Given the description of an element on the screen output the (x, y) to click on. 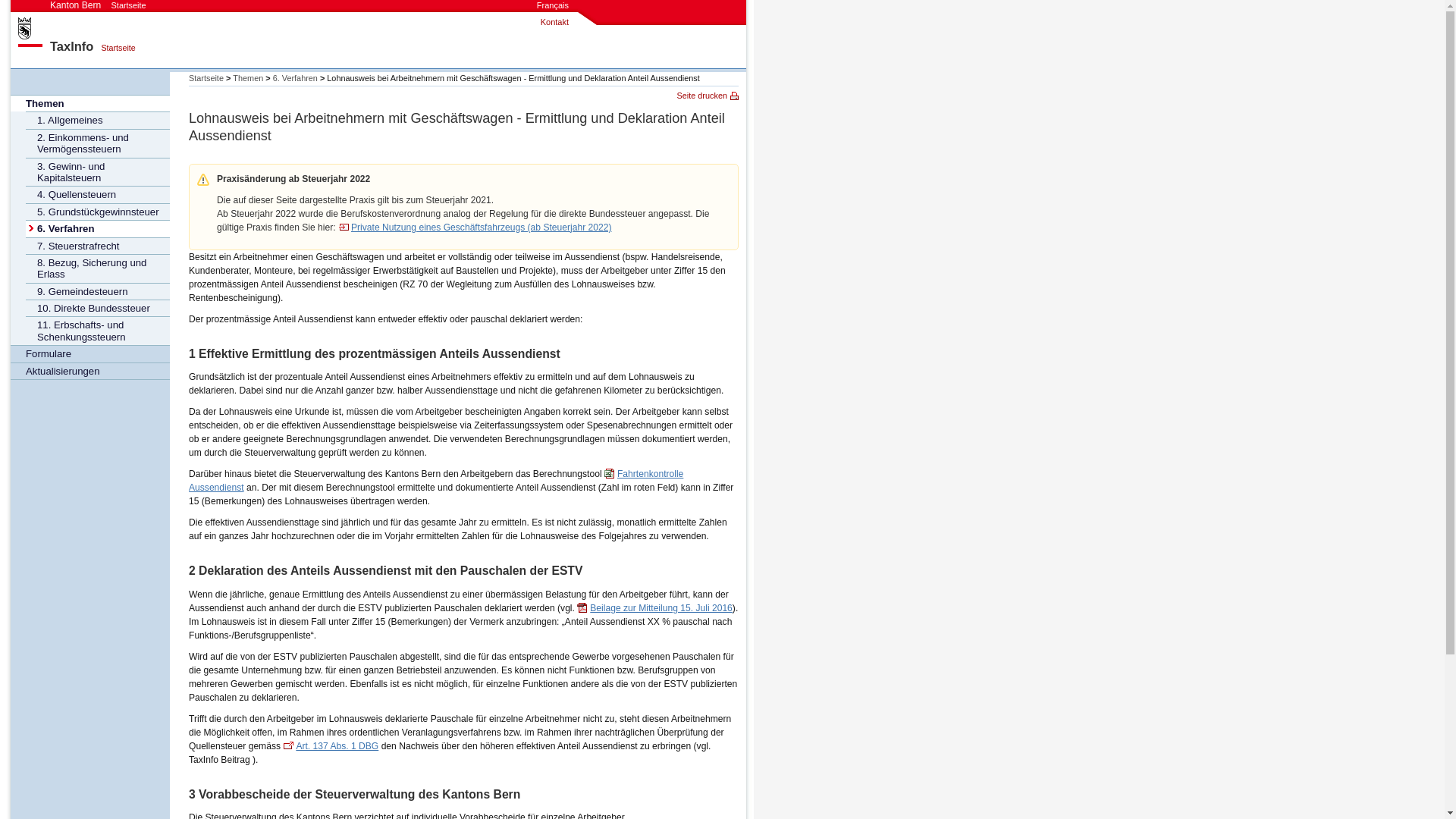
Themen Element type: text (89, 102)
Kontakt Element type: text (554, 21)
TaxInfo Element type: text (71, 46)
Formulare Element type: text (89, 353)
Fahrtenkontrolle Aussendienst Element type: text (435, 480)
4. Quellensteuern Element type: text (97, 193)
9. Gemeindesteuern Element type: text (97, 290)
10. Direkte Bundessteuer Element type: text (97, 307)
Seite drucken Element type: text (707, 95)
Startseite Element type: text (113, 47)
6. Verfahren Element type: text (295, 77)
Beilage zur Mitteilung 15. Juli 2016 Element type: text (654, 607)
Themen Element type: text (247, 77)
8. Bezug, Sicherung und Erlass Element type: text (97, 268)
Art. 137 Abs. 1 DBG Element type: text (330, 745)
3. Gewinn- und Kapitalsteuern Element type: text (97, 171)
Aktualisierungen Element type: text (89, 370)
Kanton Bern Startseite Element type: text (98, 5)
1. AIlgemeines Element type: text (97, 119)
6. Verfahren Element type: text (97, 227)
7. Steuerstrafrecht Element type: text (97, 245)
Startseite Element type: text (205, 77)
11. Erbschafts- und Schenkungssteuern Element type: text (97, 330)
